Given the description of an element on the screen output the (x, y) to click on. 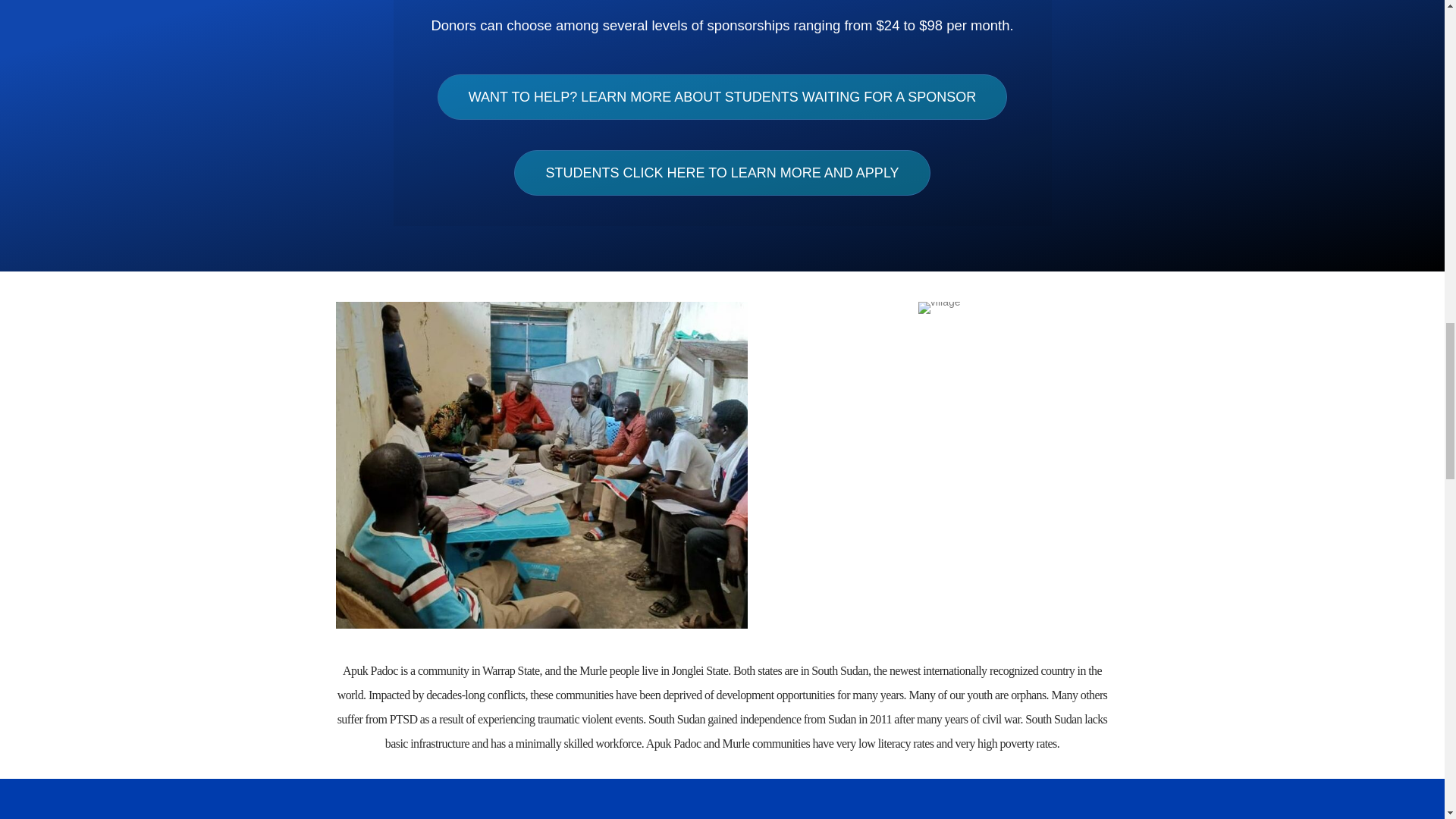
STUDENTS CLICK HERE TO LEARN MORE AND APPLY (721, 172)
village (939, 307)
